Given the description of an element on the screen output the (x, y) to click on. 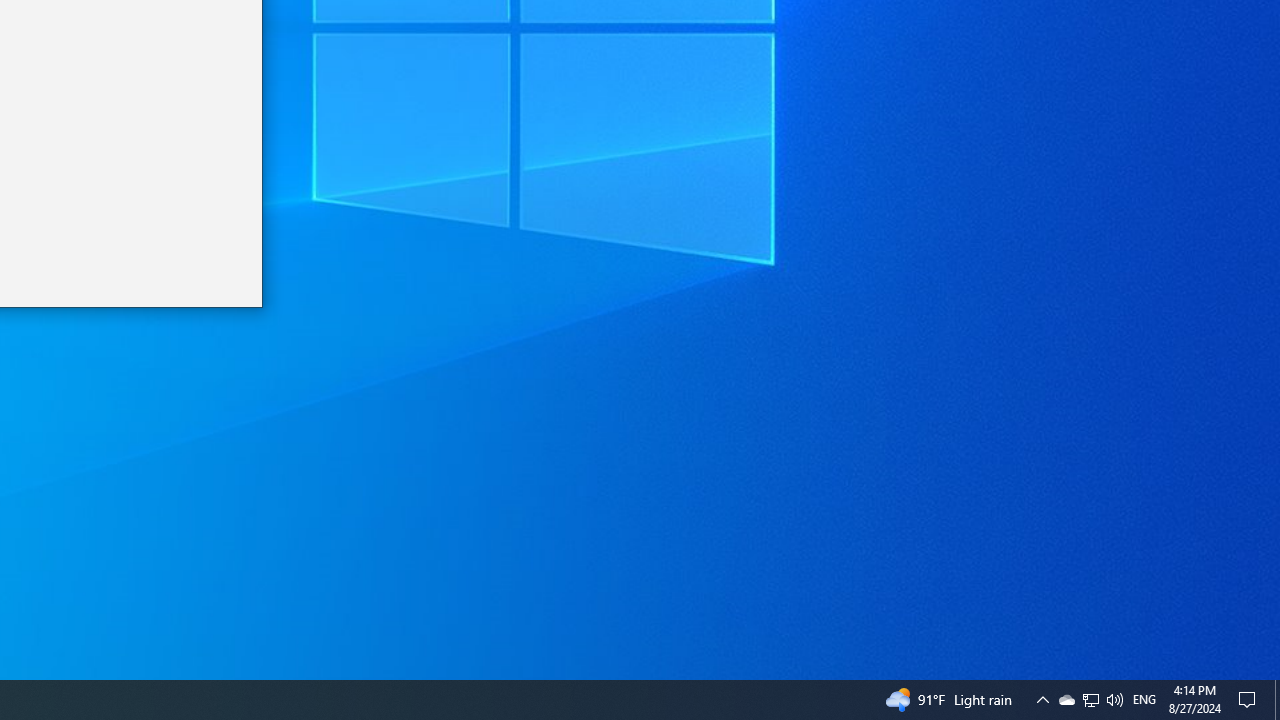
Show desktop (1277, 699)
Action Center, No new notifications (1250, 699)
User Promoted Notification Area (1090, 699)
Notification Chevron (1042, 699)
Q2790: 100% (1091, 699)
Tray Input Indicator - English (United States) (1066, 699)
